Given the description of an element on the screen output the (x, y) to click on. 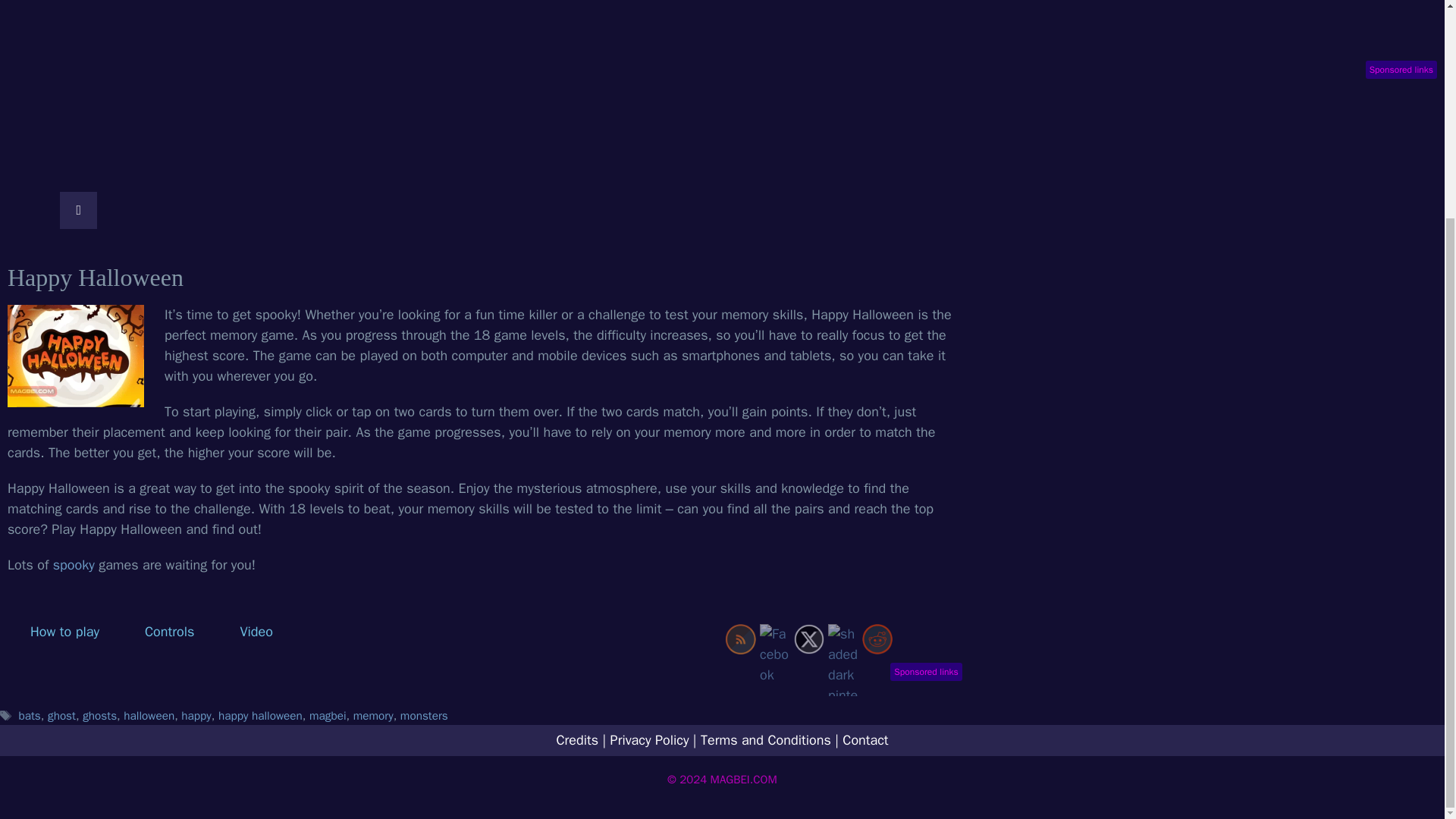
RSS (740, 639)
Twitter (808, 639)
Happy Halloween (75, 355)
